Given the description of an element on the screen output the (x, y) to click on. 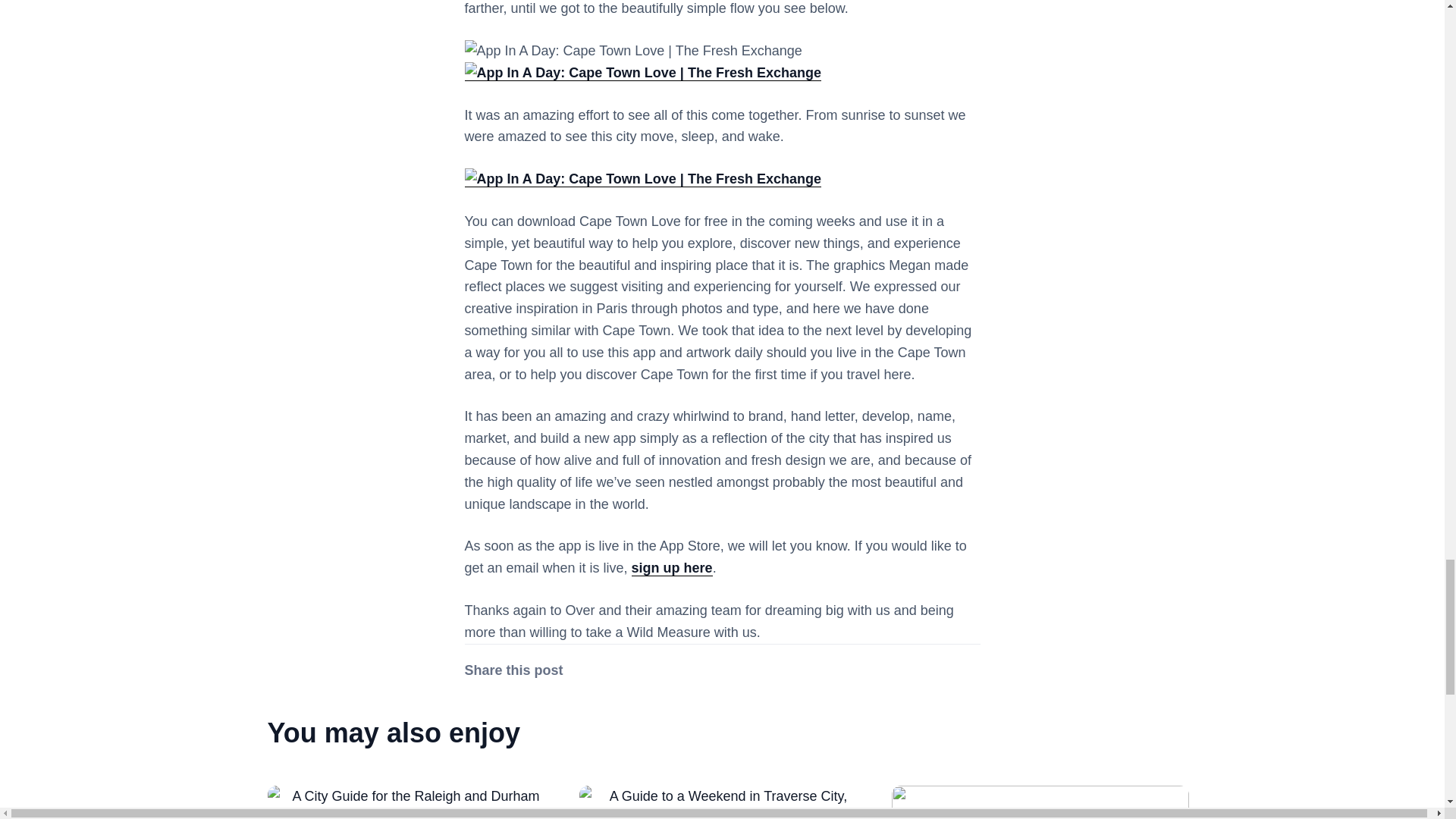
sign up here (672, 568)
